Given the description of an element on the screen output the (x, y) to click on. 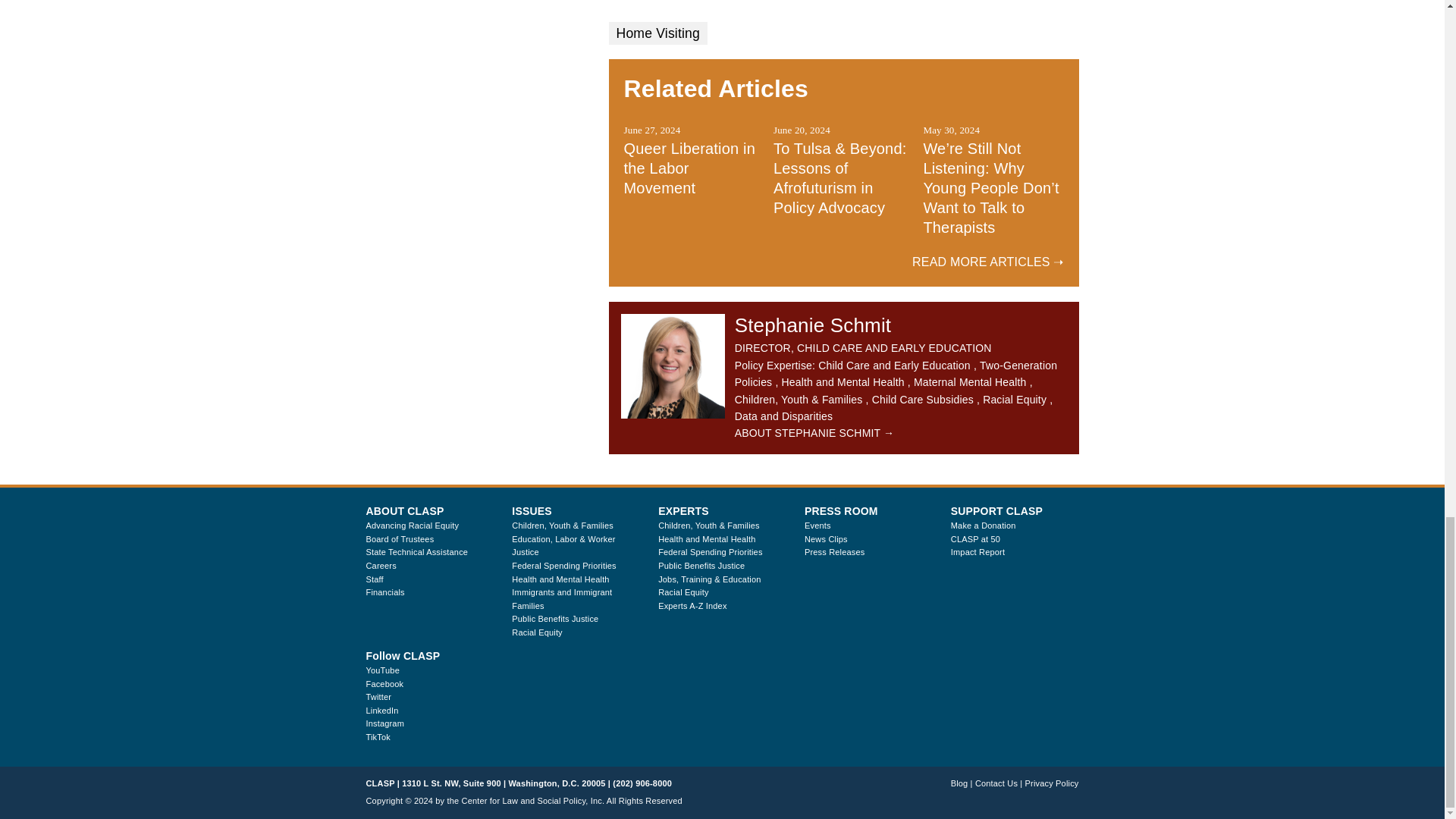
Privacy Policy (1051, 782)
Stephanie Schmit (673, 365)
Contact Us (996, 782)
Blog (959, 782)
